Given the description of an element on the screen output the (x, y) to click on. 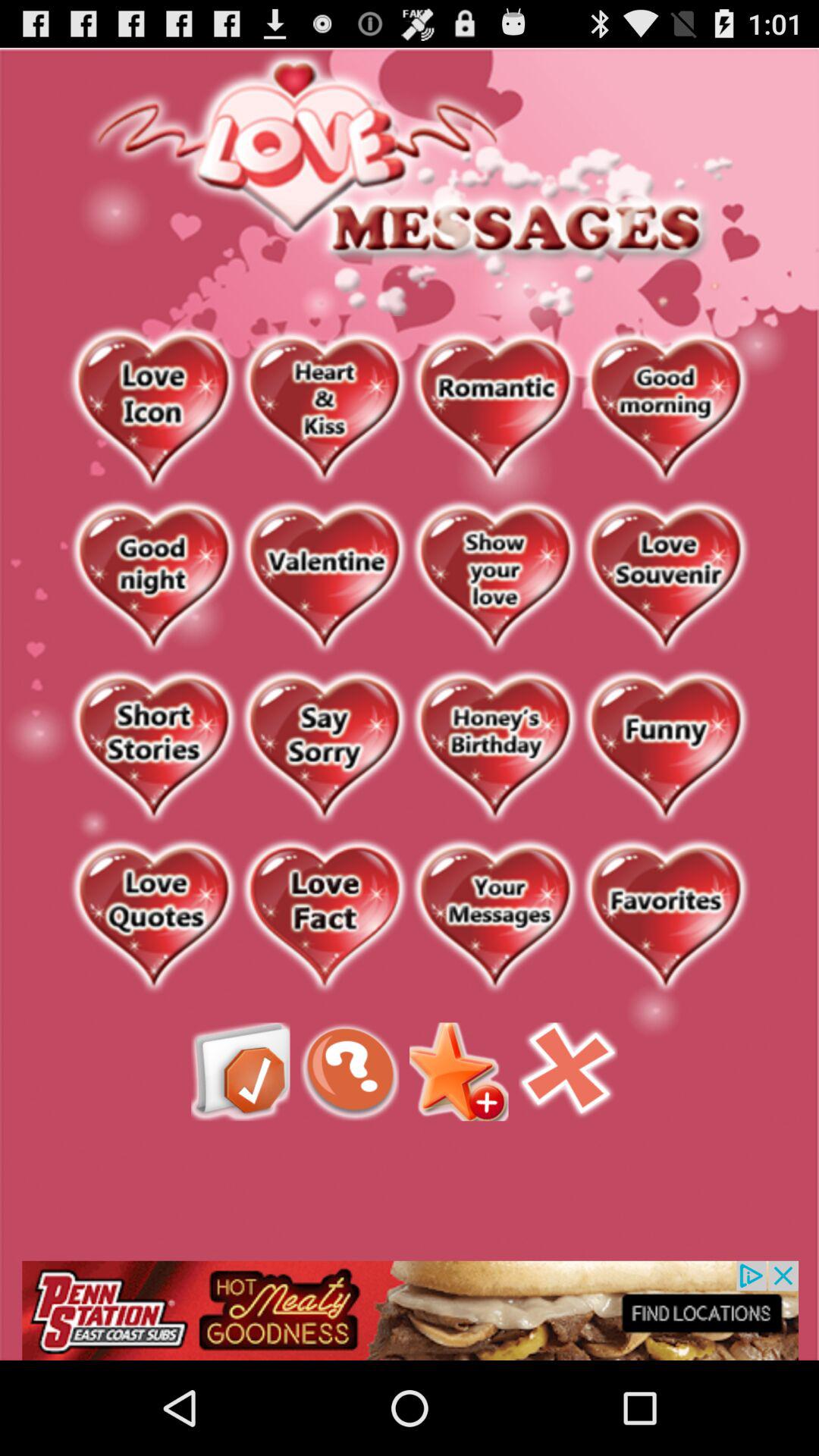
open more information (349, 1071)
